Given the description of an element on the screen output the (x, y) to click on. 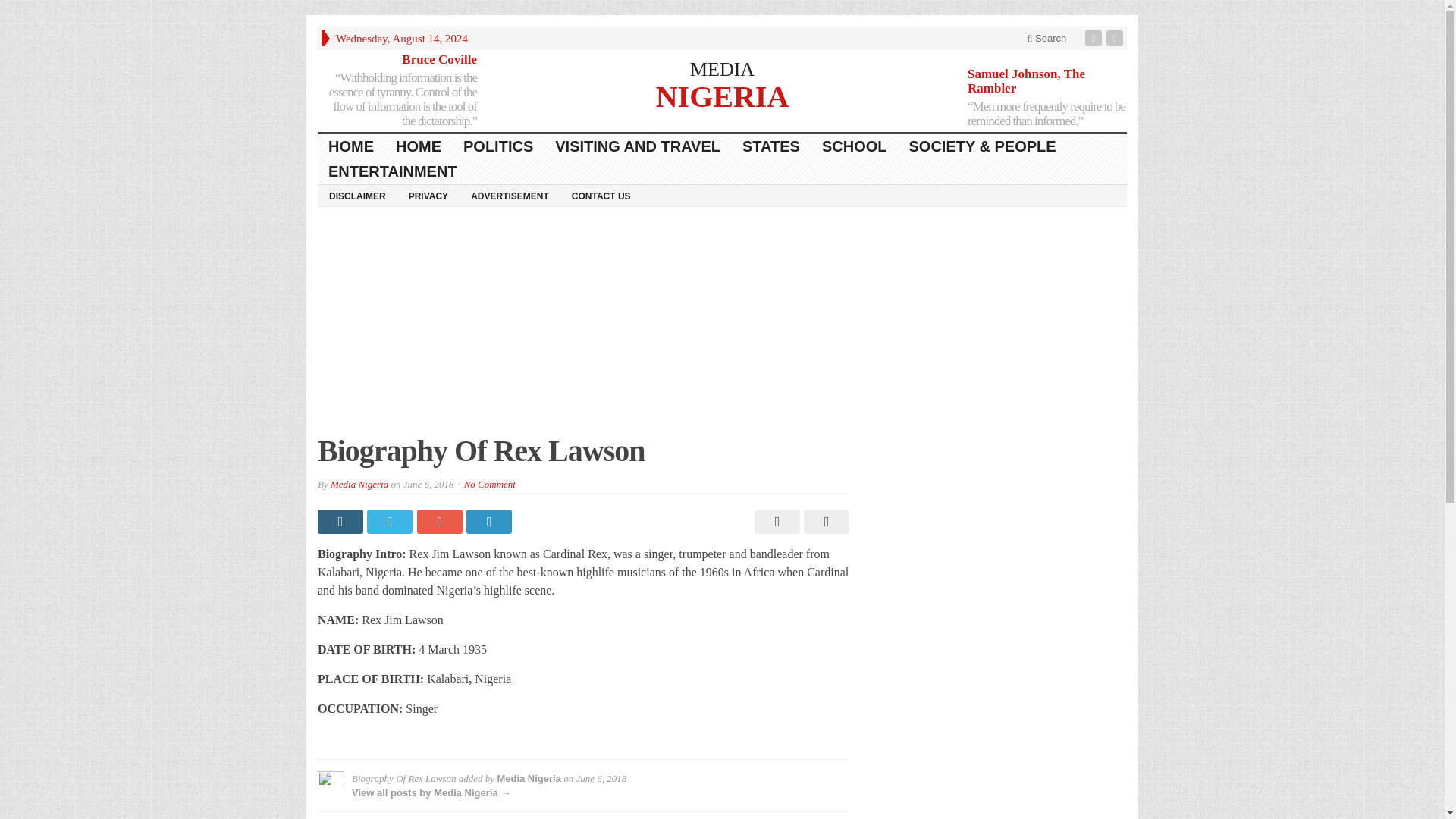
POLITICS (498, 146)
HOME (418, 146)
Do You Know?. (722, 94)
CONTACT US (601, 195)
No Comment (489, 483)
Search (1046, 37)
Share on Twitter (391, 521)
ENTERTAINMENT (392, 171)
DISCLAIMER (357, 195)
Media Nigeria (359, 483)
